Given the description of an element on the screen output the (x, y) to click on. 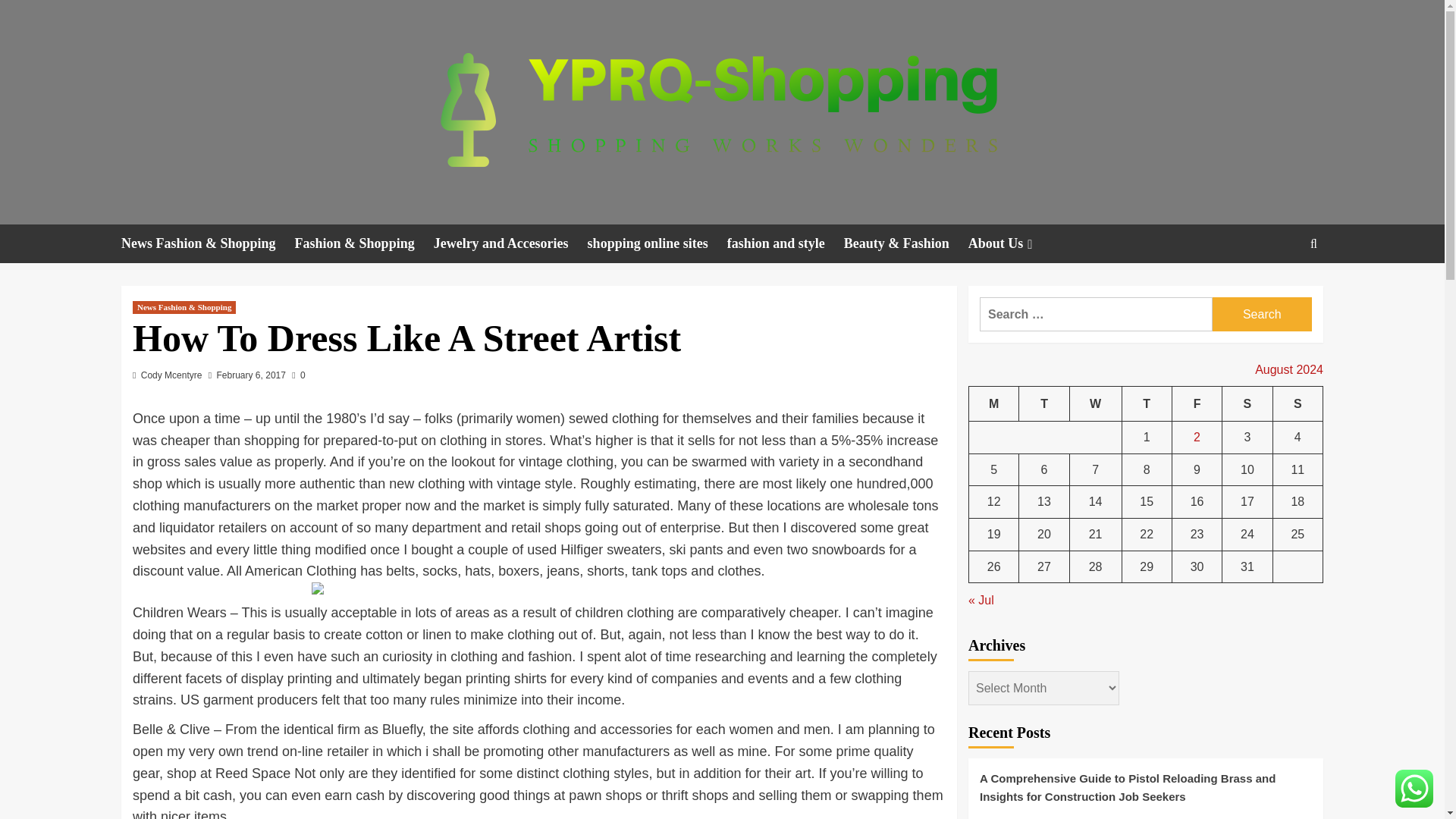
About Us (1012, 243)
fashion and style (785, 243)
Search (1278, 289)
shopping online sites (657, 243)
Search (1261, 314)
Wednesday (1094, 403)
Sunday (1297, 403)
Thursday (1146, 403)
Friday (1196, 403)
Cody Mcentyre (171, 375)
